Given the description of an element on the screen output the (x, y) to click on. 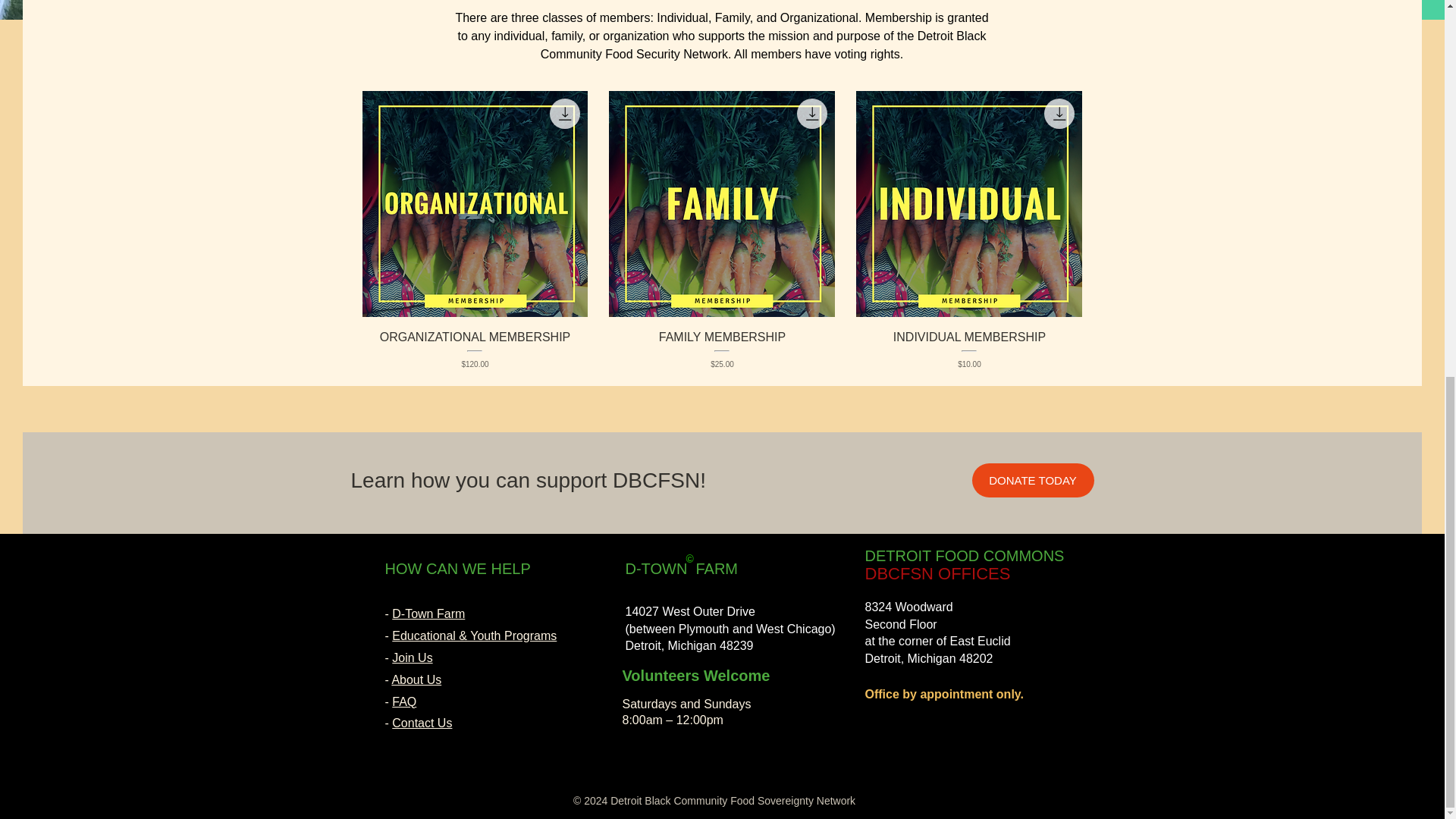
DONATE TODAY (1033, 480)
D-Town Farm (427, 613)
